Given the description of an element on the screen output the (x, y) to click on. 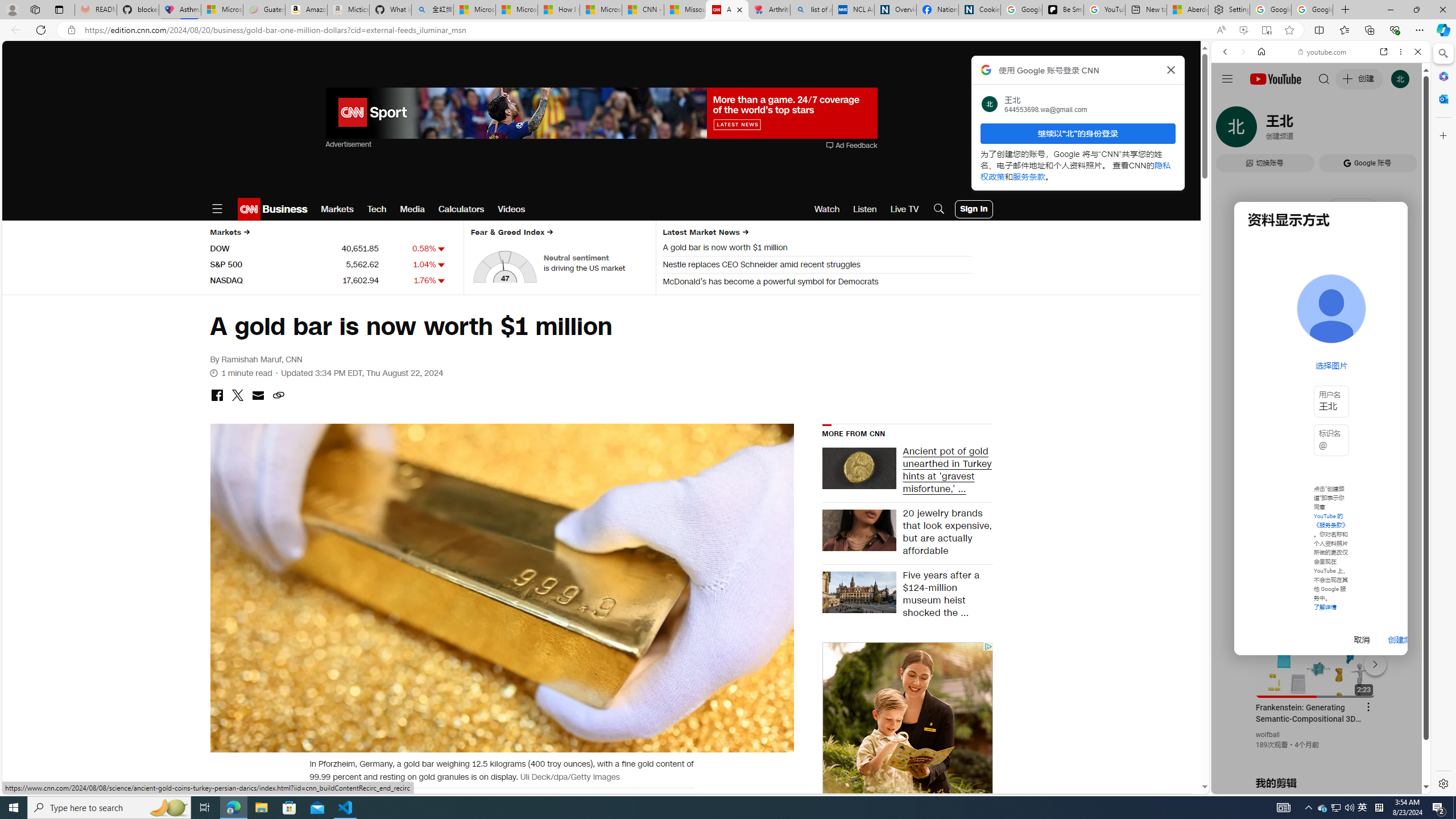
share with x (237, 395)
Business (283, 209)
you (1315, 755)
A gold bar is now worth $1 million | CNN Business (726, 9)
AutomationID: fear-and-greed-dial (504, 265)
